Given the description of an element on the screen output the (x, y) to click on. 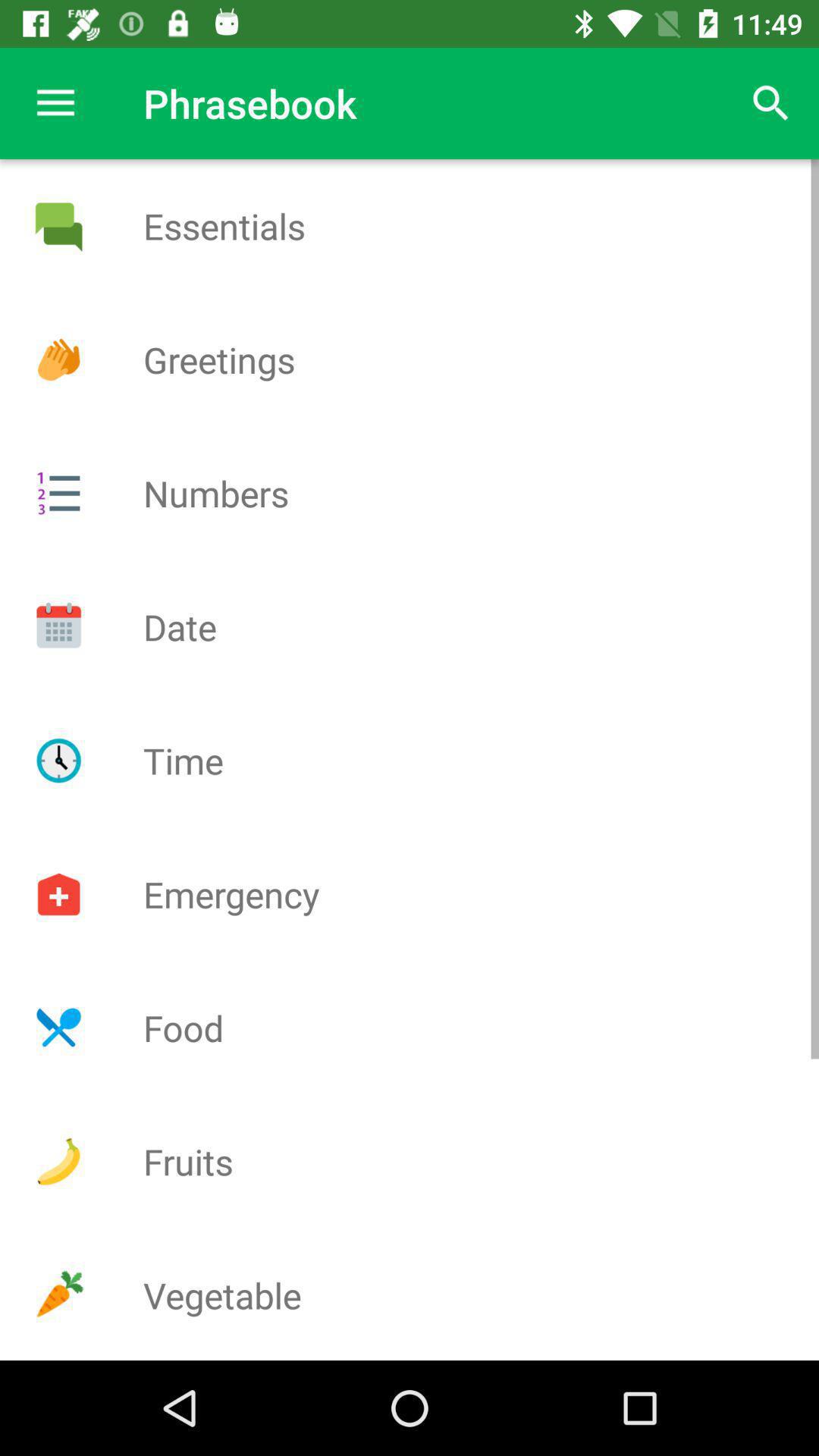
view time phrases (58, 760)
